Given the description of an element on the screen output the (x, y) to click on. 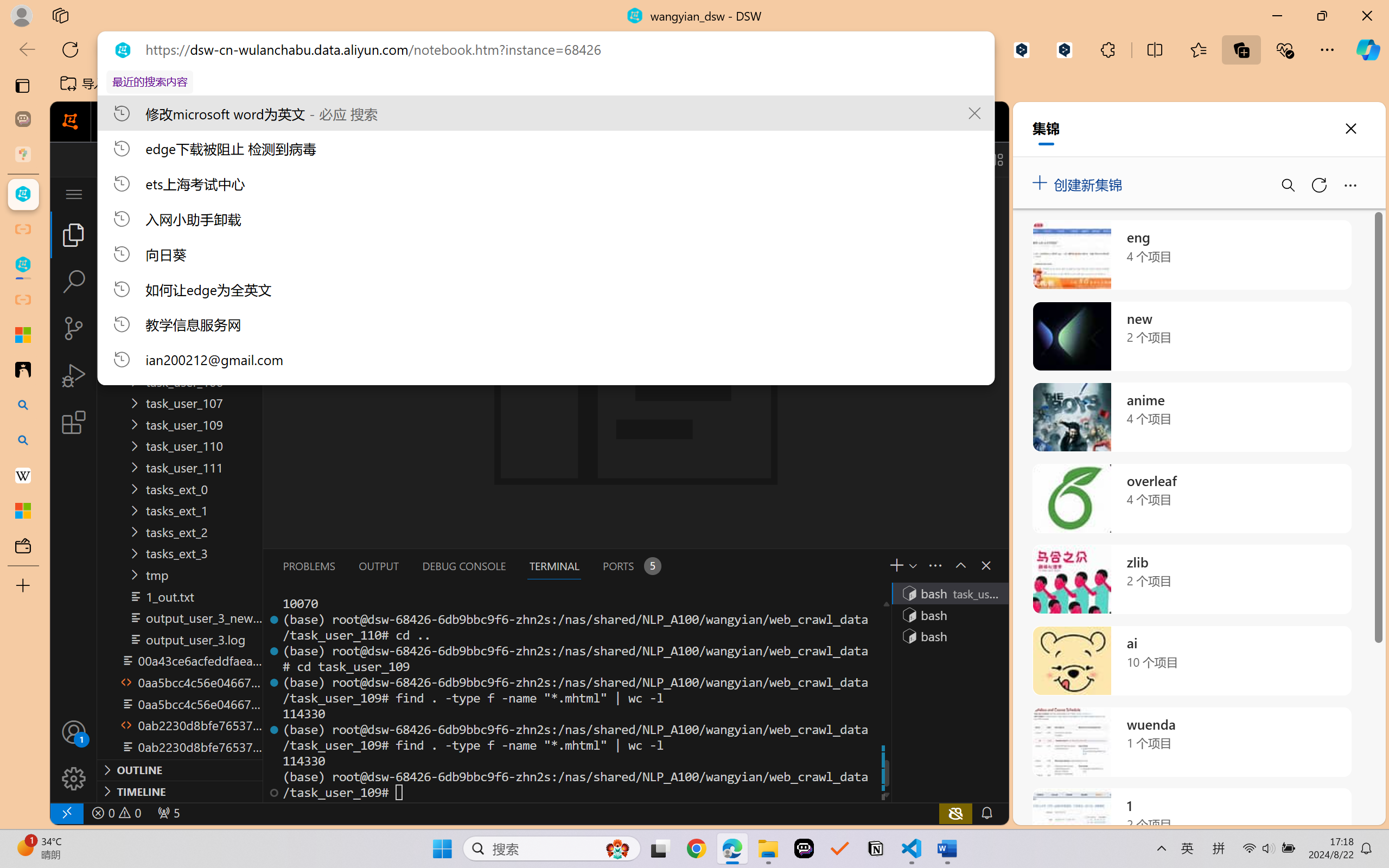
Class: actions-container (974, 565)
Terminal actions (812, 565)
Terminal 1 bash (949, 593)
Toggle Panel (Ctrl+J) (944, 159)
remote (66, 812)
Source Control (Ctrl+Shift+G) (73, 328)
Toggle Primary Side Bar (Ctrl+B) (919, 159)
Class: xterm-link-layer (574, 697)
